Given the description of an element on the screen output the (x, y) to click on. 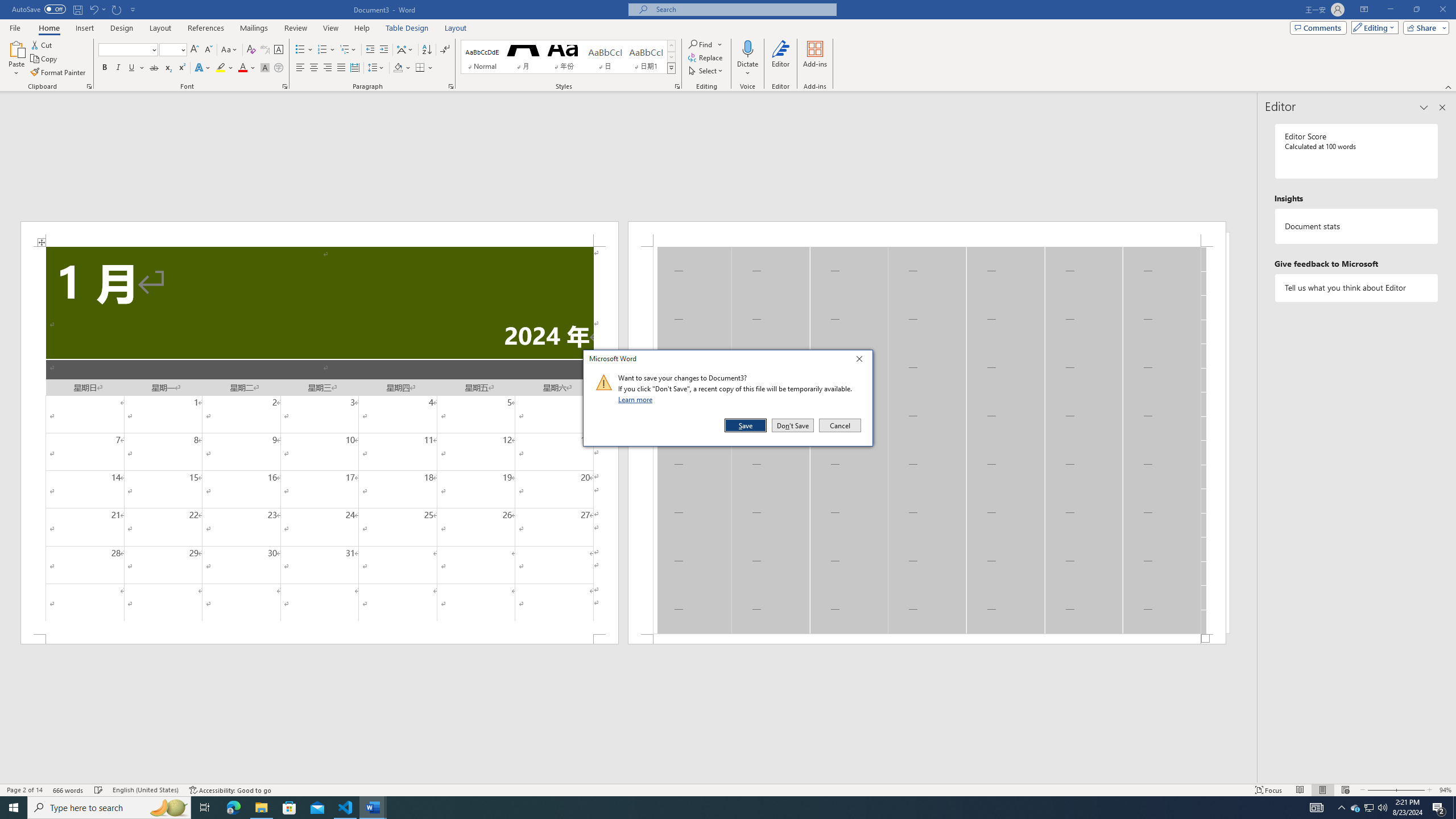
Microsoft Edge (233, 807)
